Given the description of an element on the screen output the (x, y) to click on. 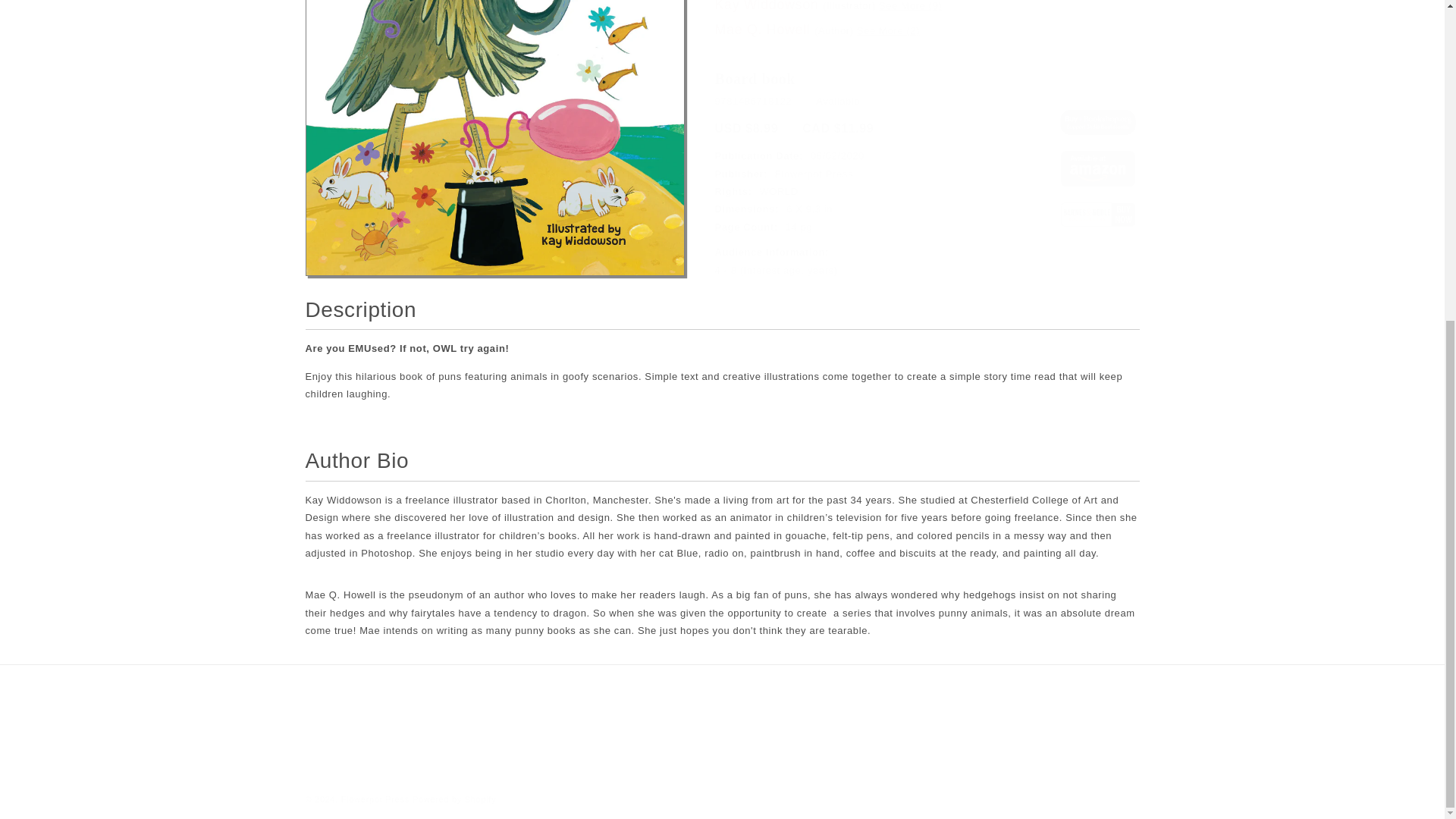
Open media 1 in modal (494, 130)
